Given the description of an element on the screen output the (x, y) to click on. 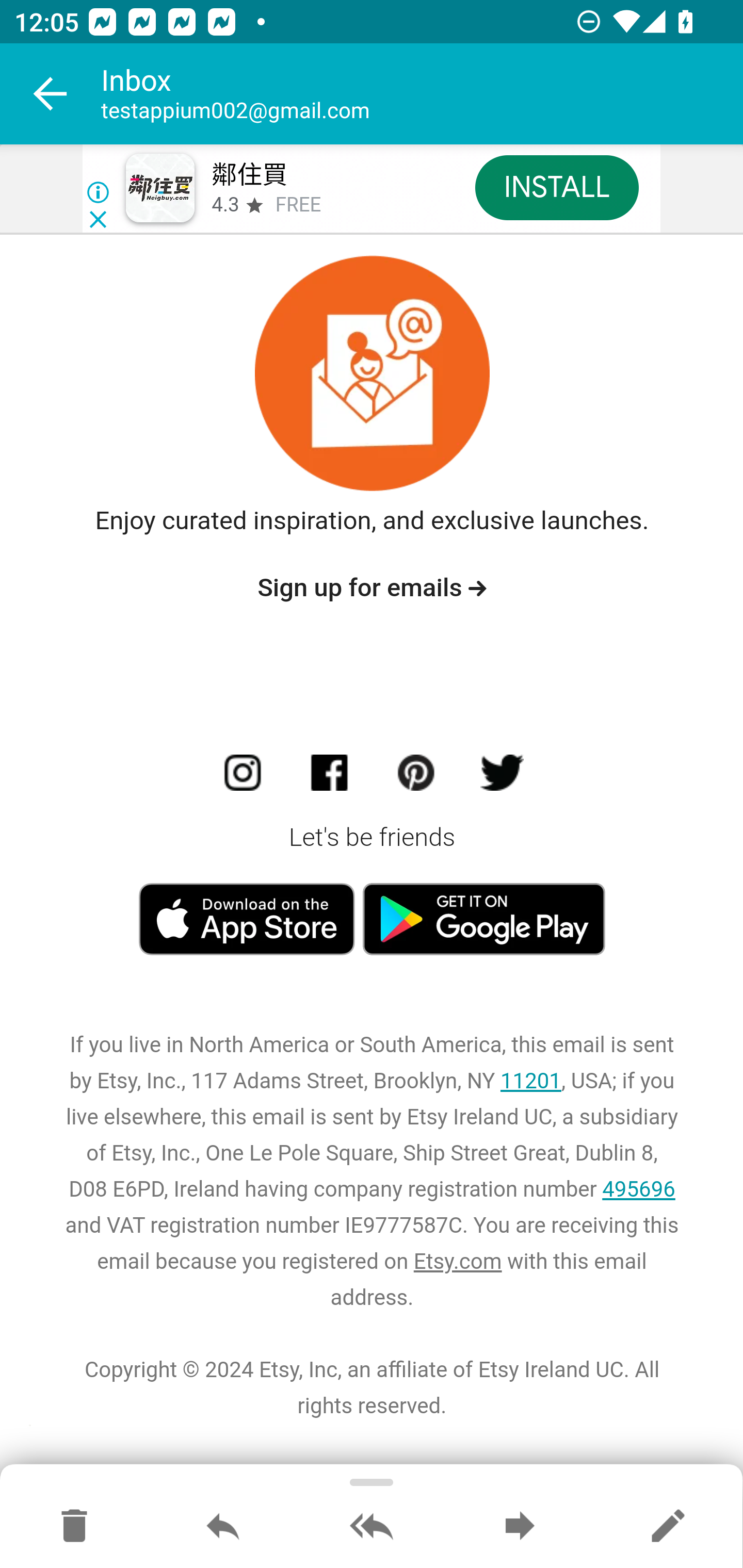
Navigate up (50, 93)
Inbox testappium002@gmail.com (422, 93)
INSTALL (556, 187)
鄰住買 (249, 175)
Instagram (246, 776)
Facebook (333, 776)
Pinterest (417, 776)
Twitter (500, 776)
Apple App Store (249, 919)
Google Play Store (484, 919)
11201 (529, 1082)
495696 (638, 1190)
Etsy.com (456, 1262)
Move to Deleted (74, 1527)
Reply (222, 1527)
Reply all (371, 1527)
Forward (519, 1527)
Reply as new (667, 1527)
